Given the description of an element on the screen output the (x, y) to click on. 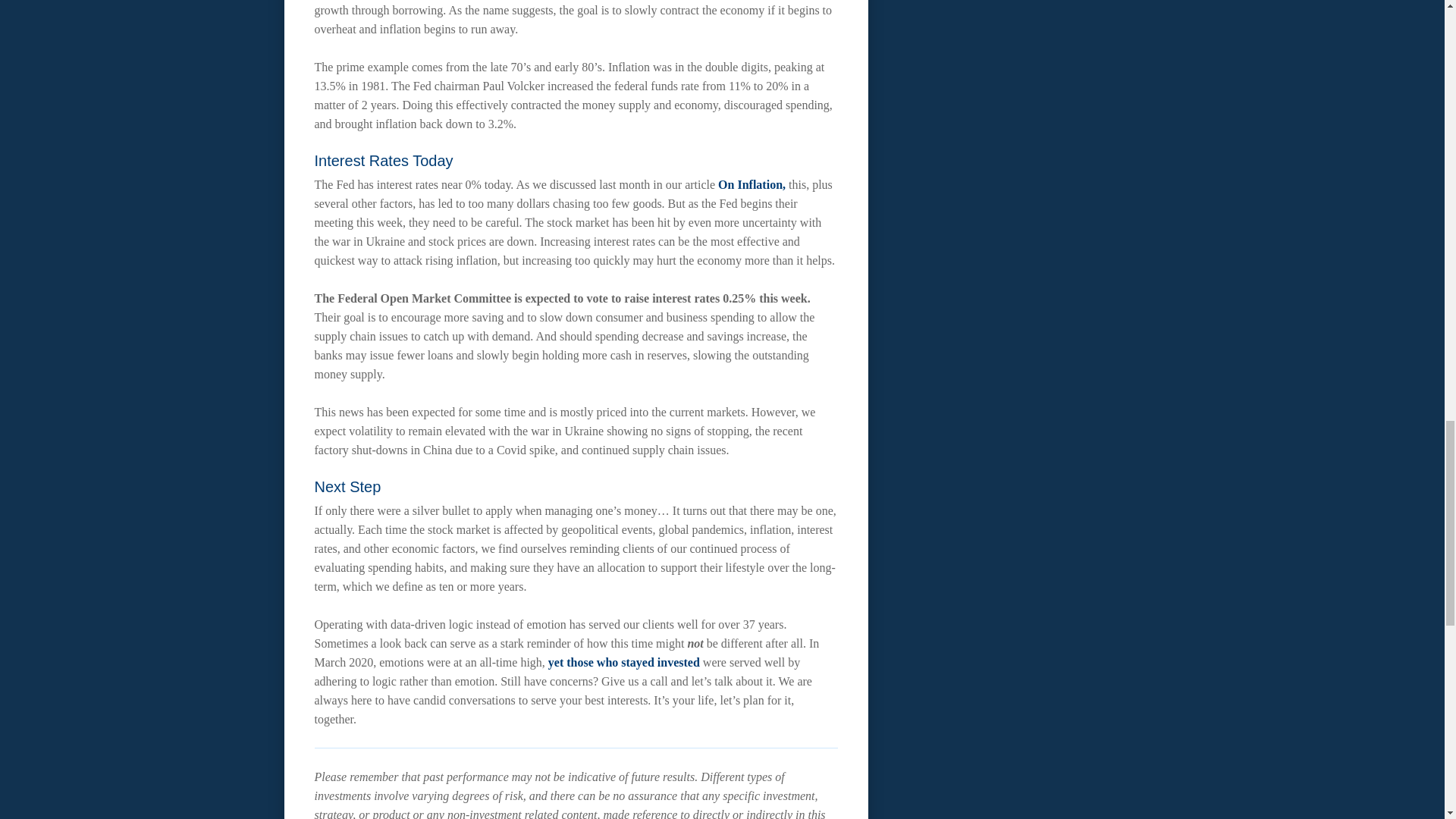
yet those who stayed invested (624, 662)
On Inflation, (751, 184)
